Given the description of an element on the screen output the (x, y) to click on. 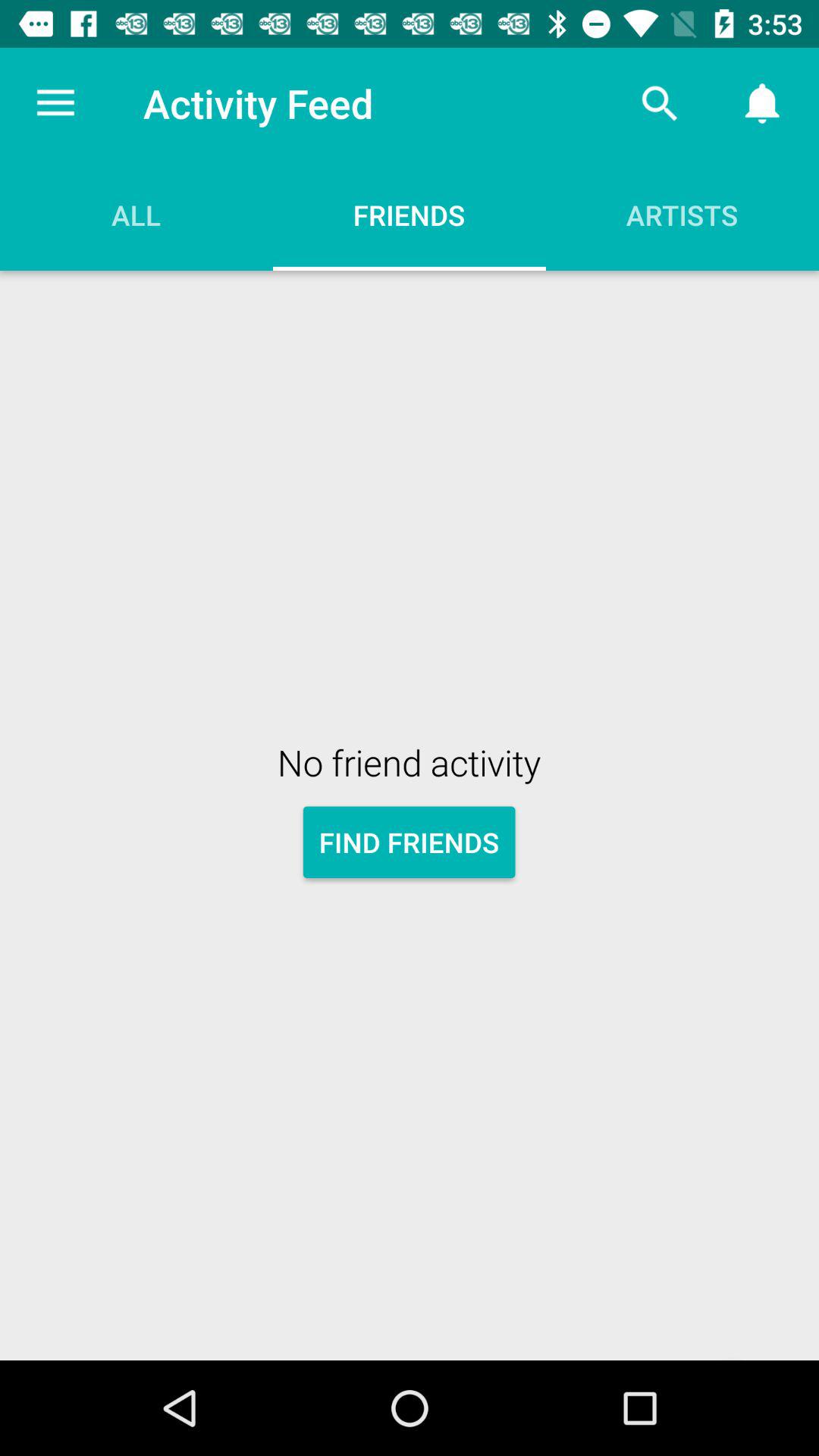
select icon to the right of activity feed (659, 103)
